Given the description of an element on the screen output the (x, y) to click on. 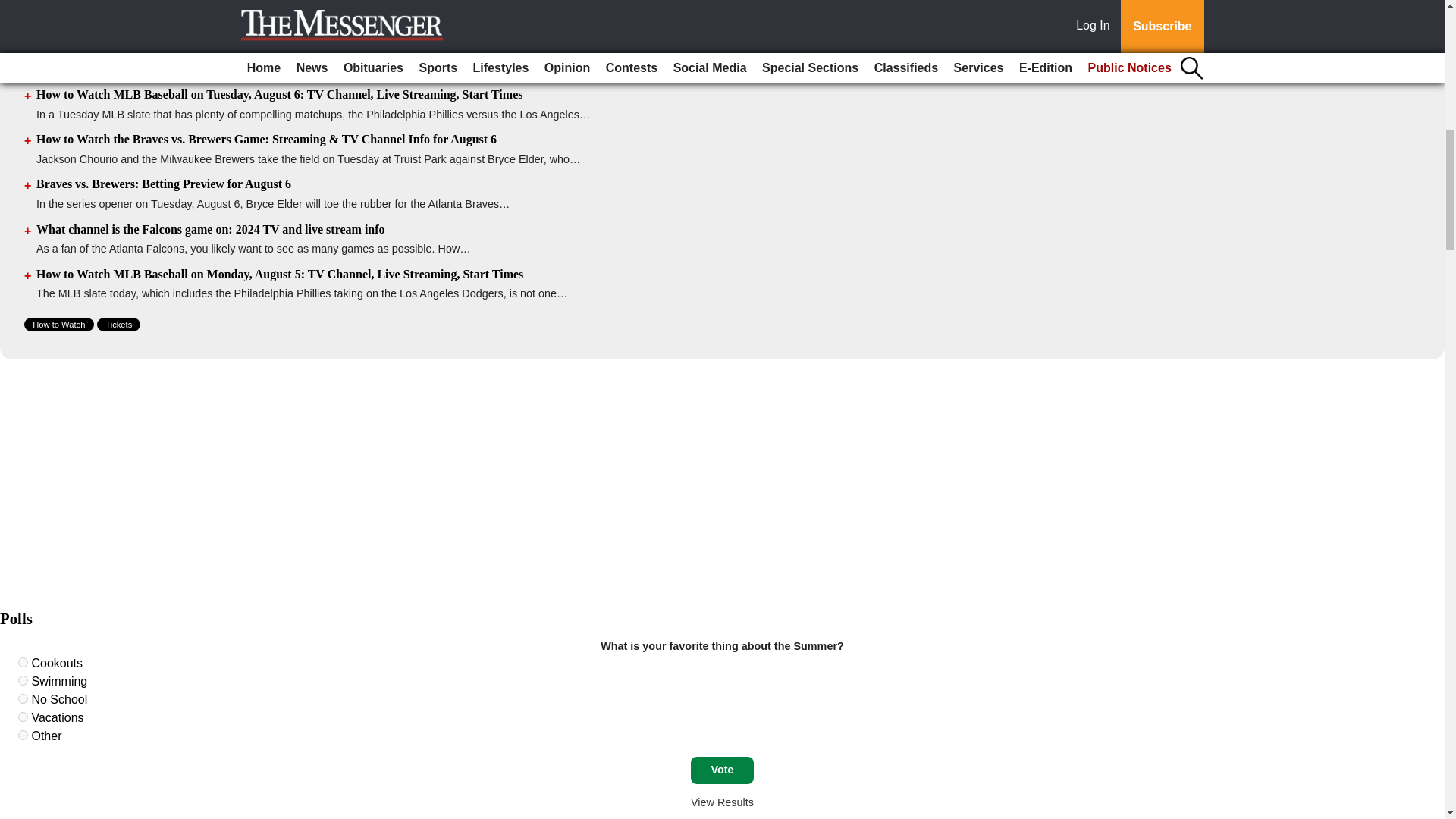
7278 (22, 735)
   Vote    (722, 769)
7276 (22, 698)
7274 (22, 662)
7275 (22, 680)
View Results Of This Poll (722, 802)
7277 (22, 716)
